Given the description of an element on the screen output the (x, y) to click on. 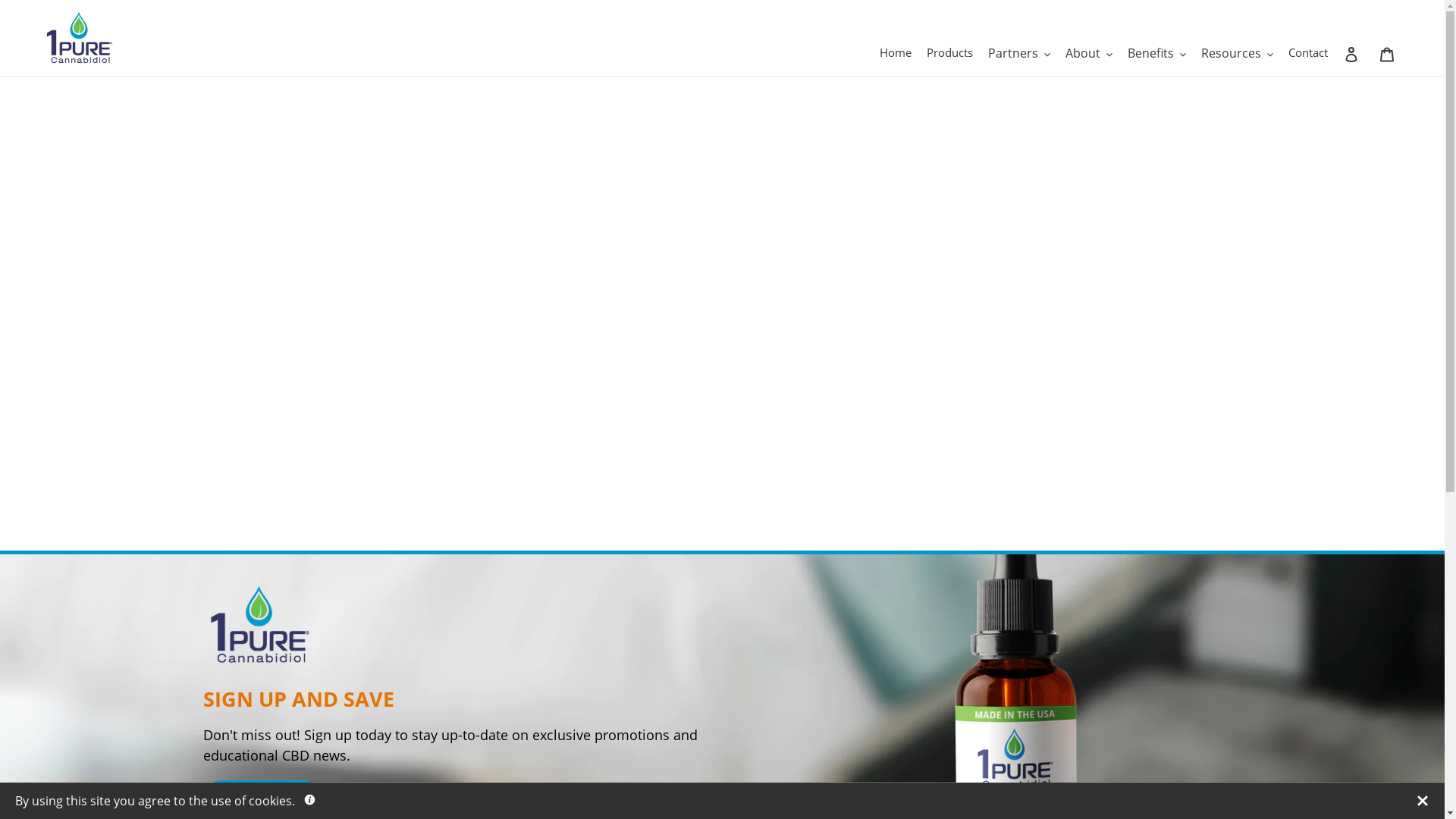
Resources Element type: text (1236, 52)
Products Element type: text (949, 52)
Benefits Element type: text (1156, 52)
Home Element type: text (895, 52)
Partners Element type: text (1018, 52)
About Element type: text (1088, 52)
Log in Element type: text (1353, 52)
Cart Element type: text (1386, 52)
Contact Element type: text (1307, 52)
